Given the description of an element on the screen output the (x, y) to click on. 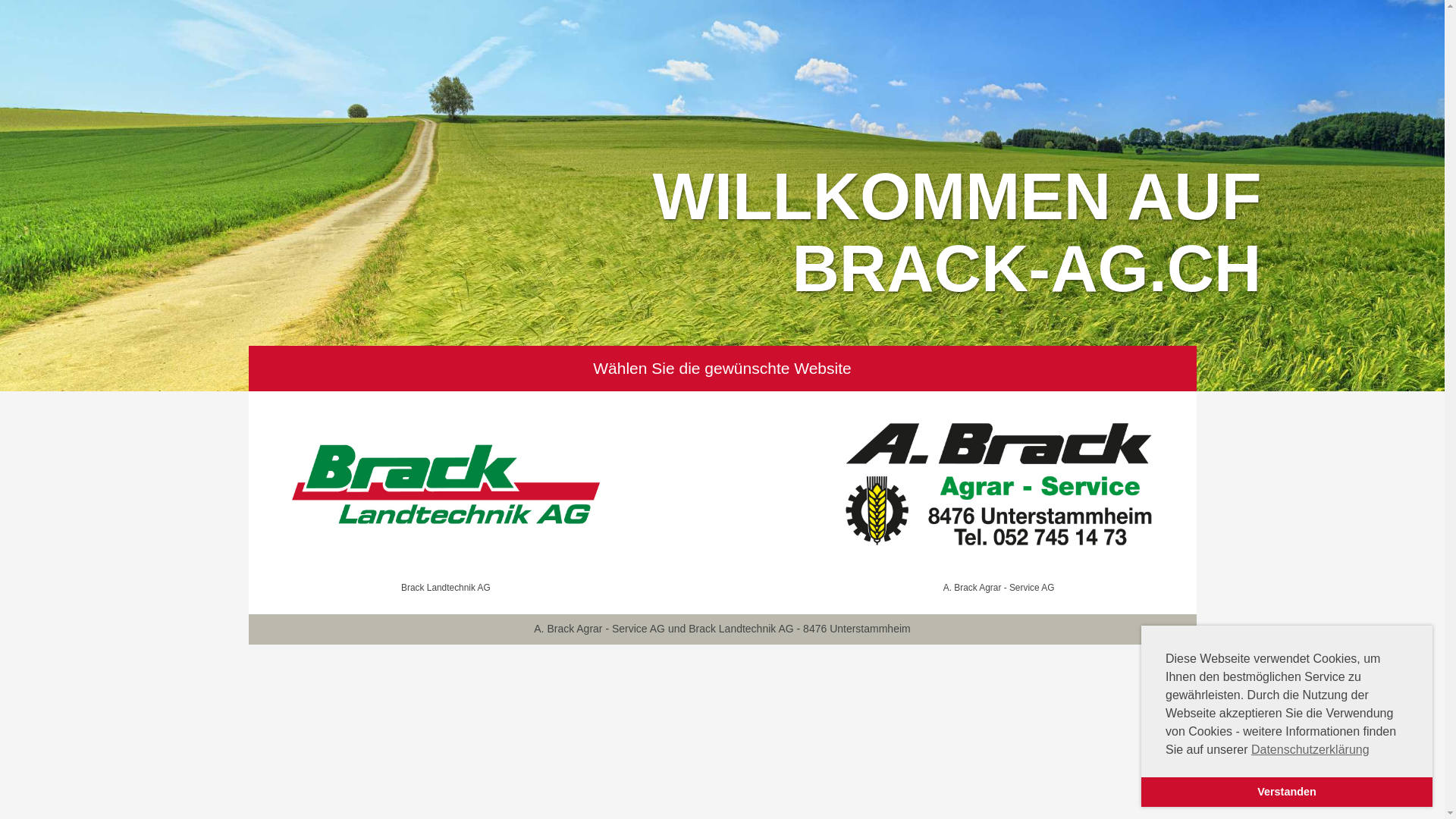
Brack Landtechnik AG Element type: text (445, 495)
A. Brack Agrar - Service AG Element type: text (998, 495)
Verstanden Element type: text (1286, 791)
